Given the description of an element on the screen output the (x, y) to click on. 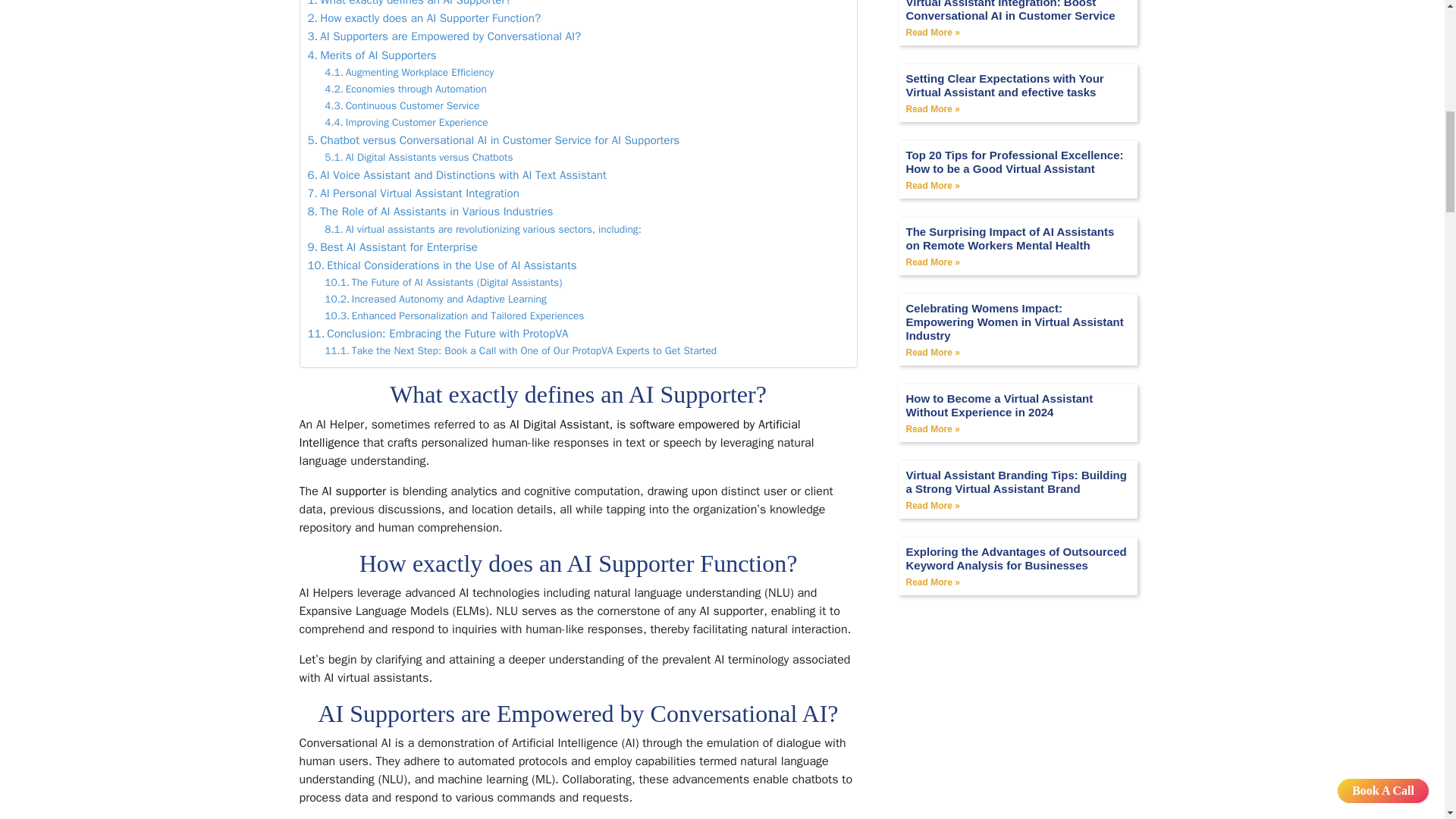
Improving Customer Experience (405, 122)
What exactly defines an AI Supporter? (409, 4)
Augmenting Workplace Efficiency (408, 72)
Continuous Customer Service (401, 105)
Merits of AI Supporters (371, 54)
What exactly defines an AI Supporter? (409, 4)
Merits of AI Supporters (371, 54)
How exactly does an AI Supporter Function? (424, 18)
Economies through Automation (405, 89)
AI Supporters are Empowered by Conversational AI? (443, 36)
AI Supporters are Empowered by Conversational AI? (443, 36)
Augmenting Workplace Efficiency (408, 72)
How exactly does an AI Supporter Function? (424, 18)
